Given the description of an element on the screen output the (x, y) to click on. 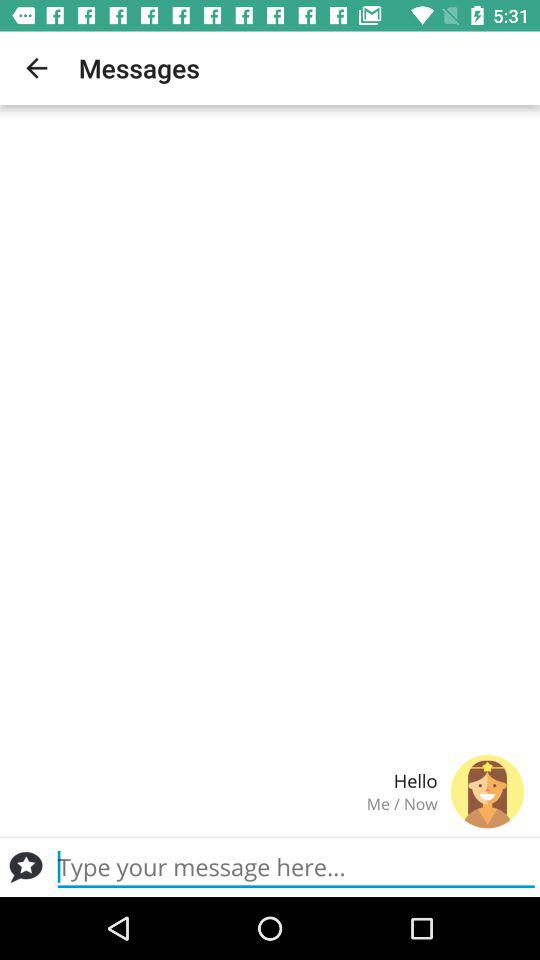
click hello item (226, 780)
